Given the description of an element on the screen output the (x, y) to click on. 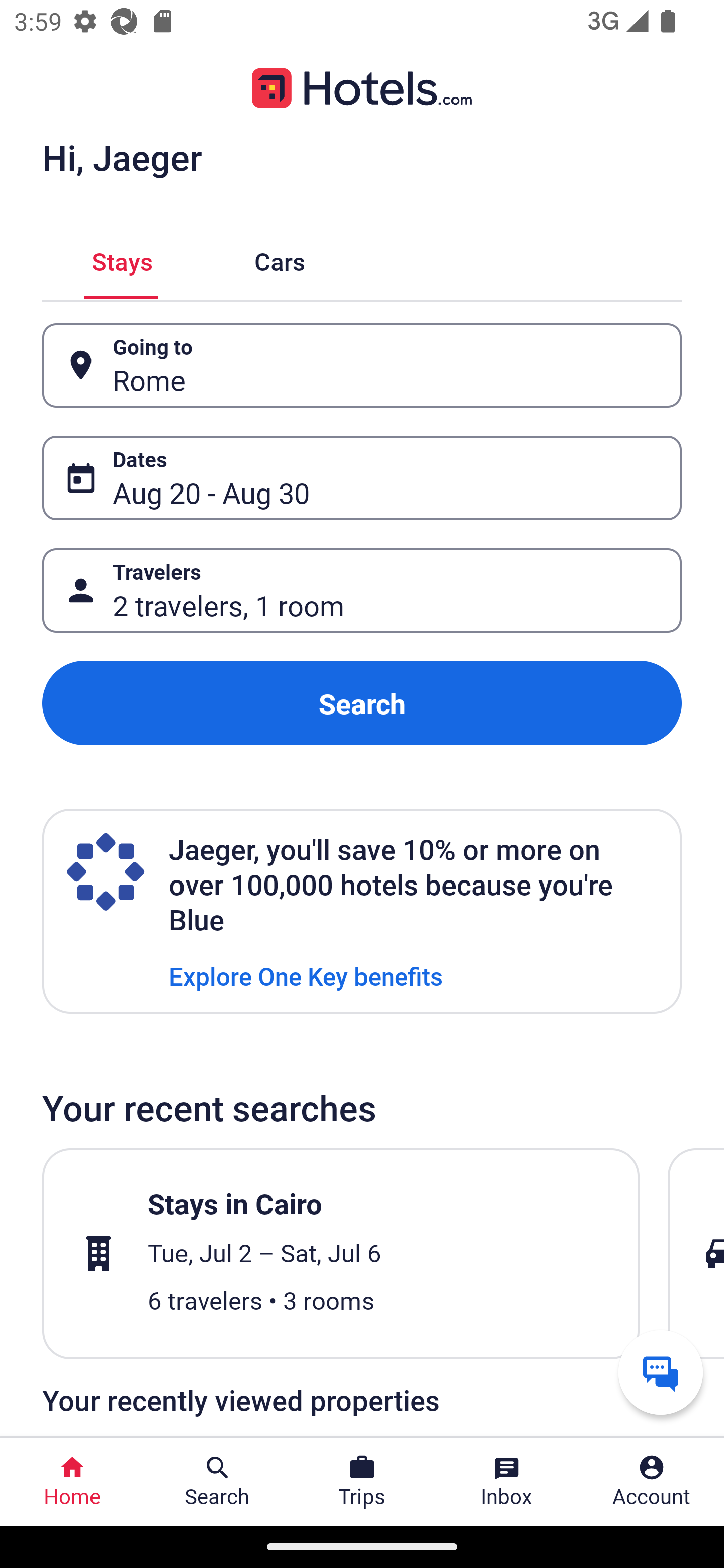
Hi, Jaeger (121, 156)
Cars (279, 259)
Going to Button Rome (361, 365)
Dates Button Aug 20 - Aug 30 (361, 477)
Travelers Button 2 travelers, 1 room (361, 590)
Search (361, 702)
Get help from a virtual agent (660, 1371)
Search Search Button (216, 1481)
Trips Trips Button (361, 1481)
Inbox Inbox Button (506, 1481)
Account Profile. Button (651, 1481)
